Given the description of an element on the screen output the (x, y) to click on. 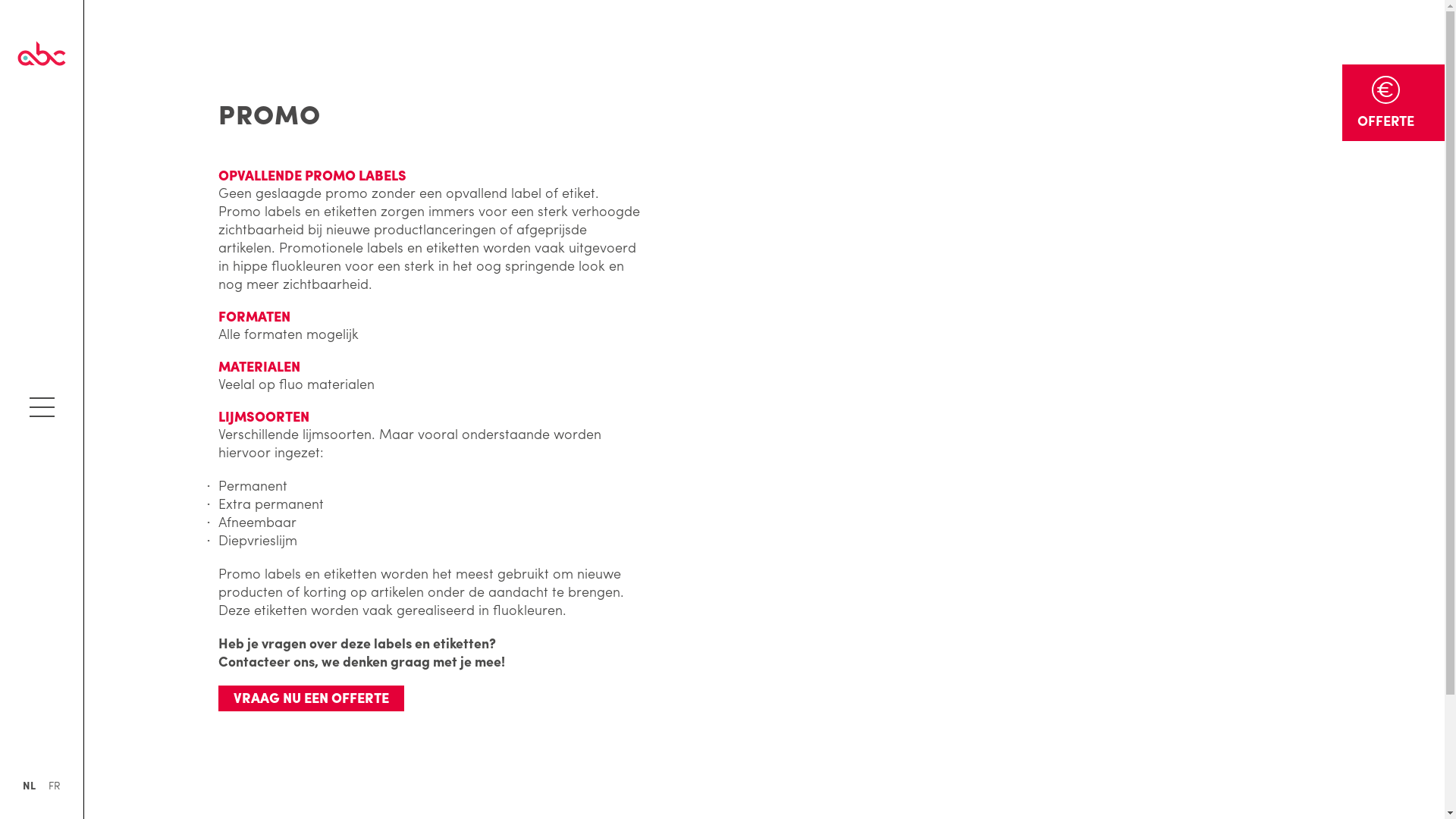
OFFERTE Element type: text (1393, 102)
VRAAG NU EEN OFFERTE Element type: text (311, 698)
NL Element type: text (29, 784)
Overslaan en naar de inhoud gaan Element type: text (109, 0)
FR Element type: text (54, 784)
